Given the description of an element on the screen output the (x, y) to click on. 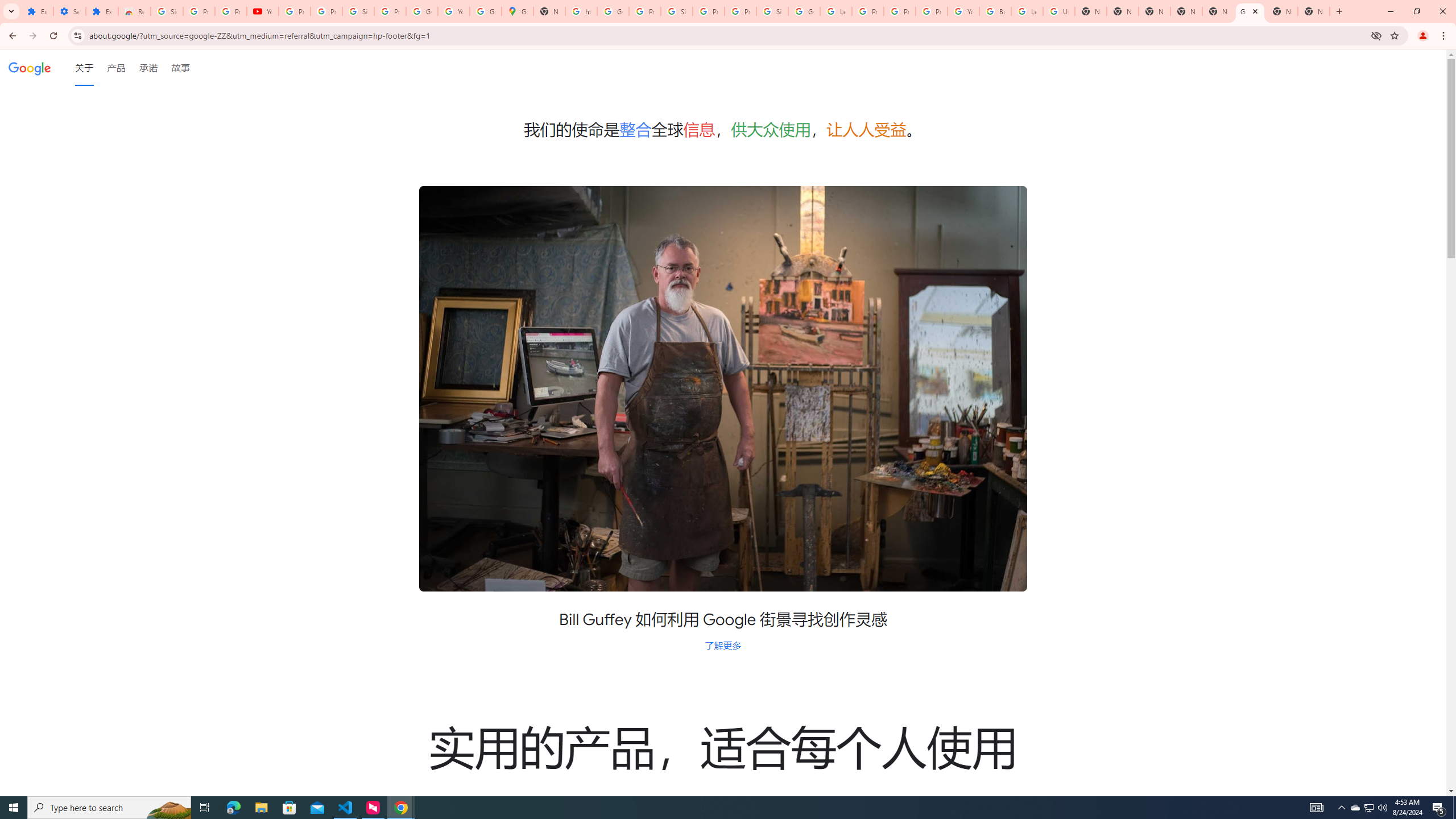
Google Maps (517, 11)
https://scholar.google.com/ (581, 11)
New Tab (1313, 11)
YouTube (453, 11)
New Tab (1154, 11)
Sign in - Google Accounts (358, 11)
Sign in - Google Accounts (772, 11)
